Given the description of an element on the screen output the (x, y) to click on. 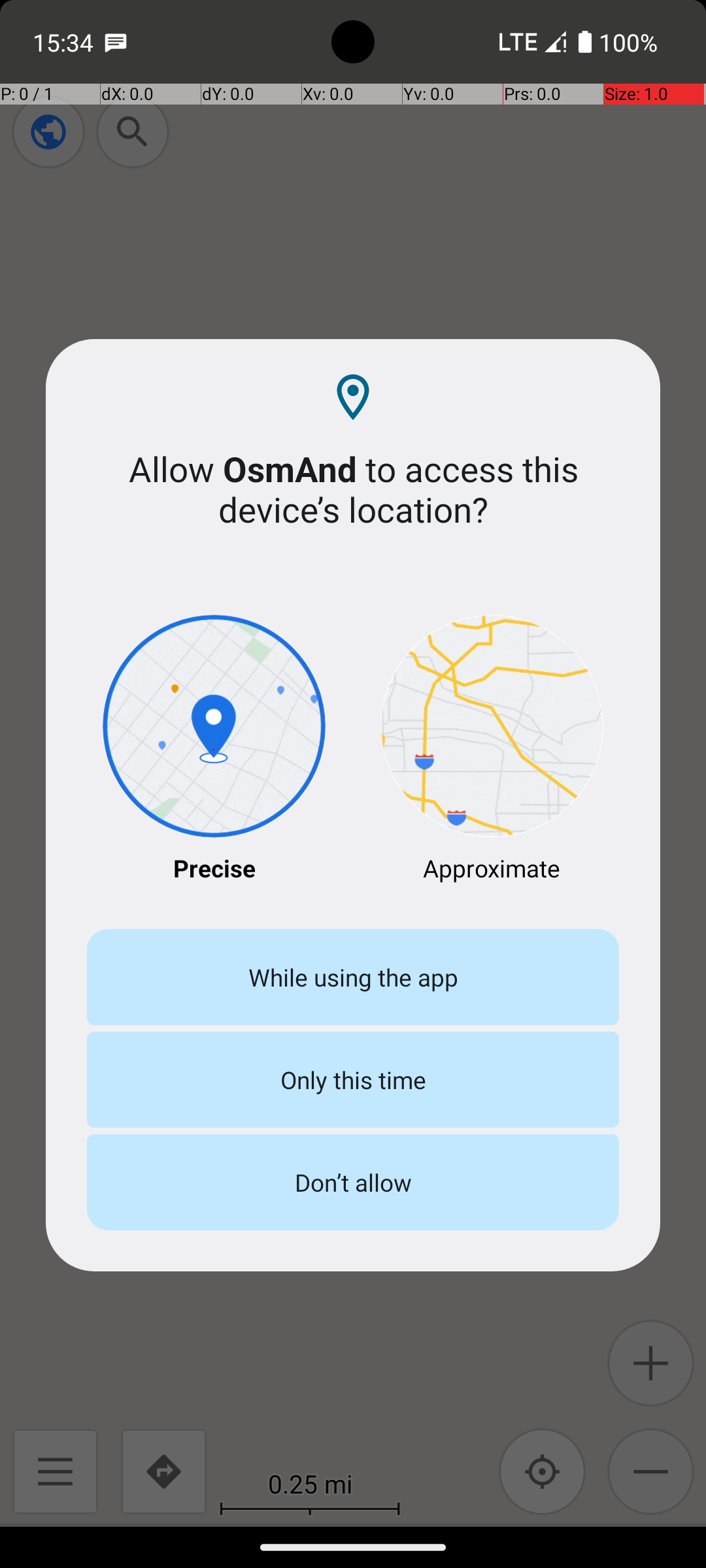
Allow OsmAnd to access this device’s location? Element type: android.widget.TextView (352, 488)
While using the app Element type: android.widget.Button (352, 977)
Only this time Element type: android.widget.Button (352, 1079)
Precise Element type: android.widget.RadioButton (213, 749)
Approximate Element type: android.widget.RadioButton (491, 749)
